Given the description of an element on the screen output the (x, y) to click on. 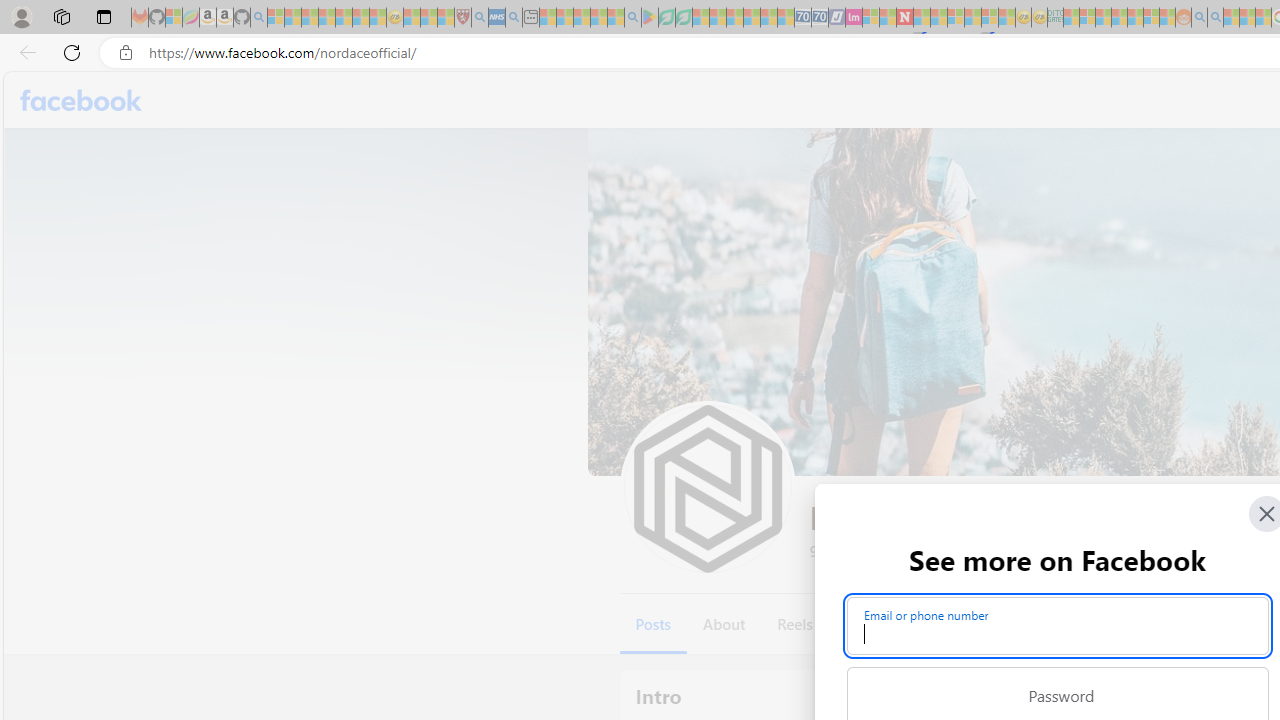
Facebook (81, 99)
